Given the description of an element on the screen output the (x, y) to click on. 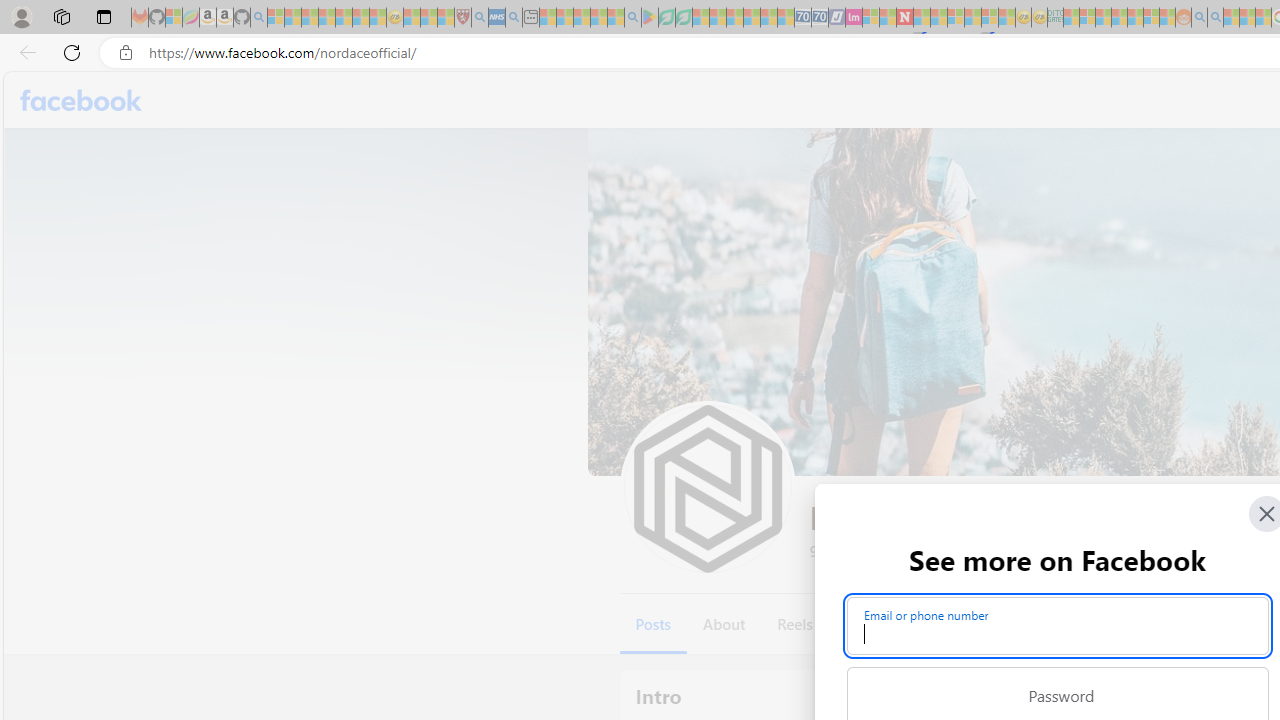
Facebook (81, 99)
